Given the description of an element on the screen output the (x, y) to click on. 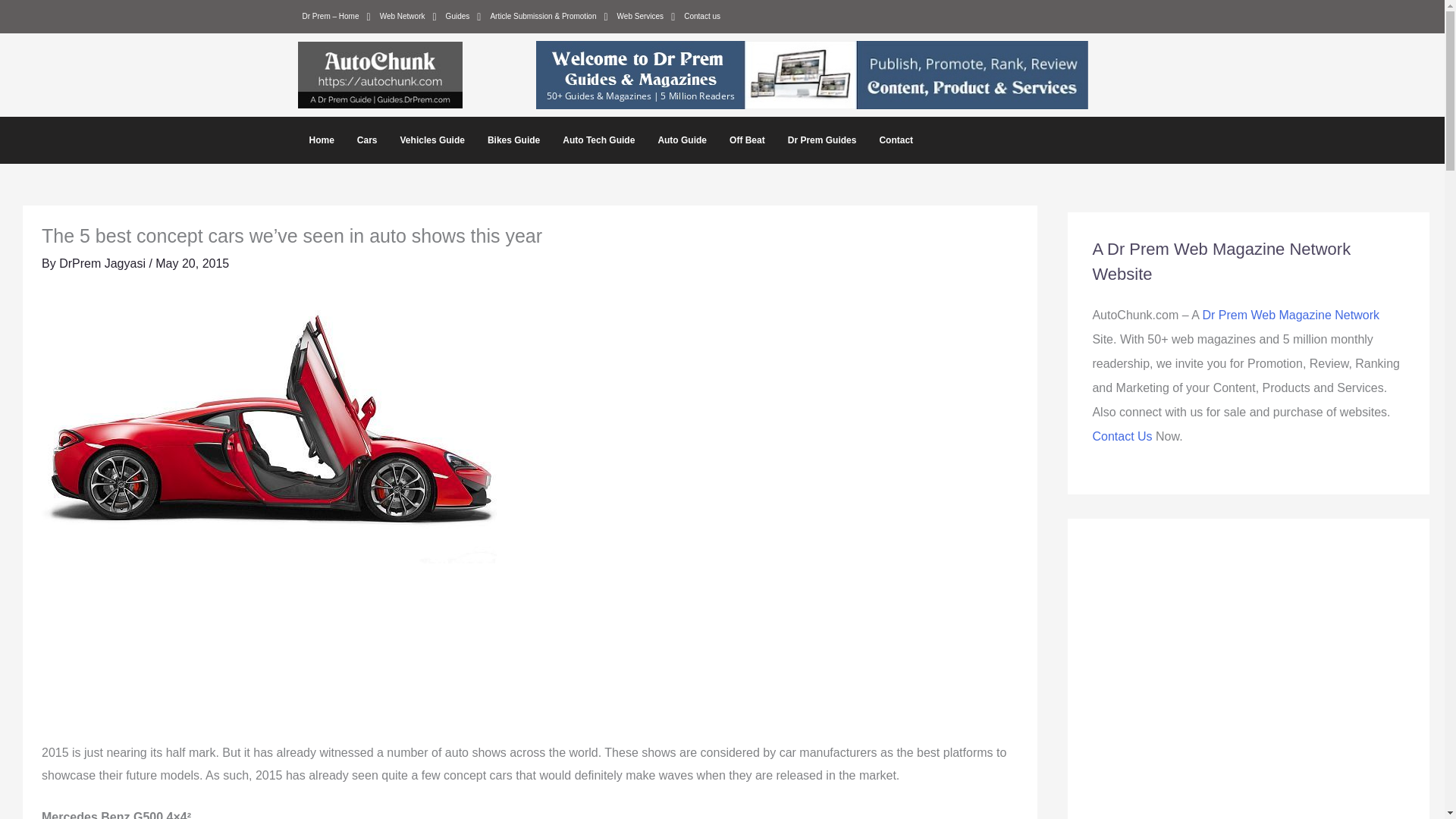
View all posts by DrPrem Jagyasi (103, 263)
Guides (463, 16)
Web Network (408, 16)
